Given the description of an element on the screen output the (x, y) to click on. 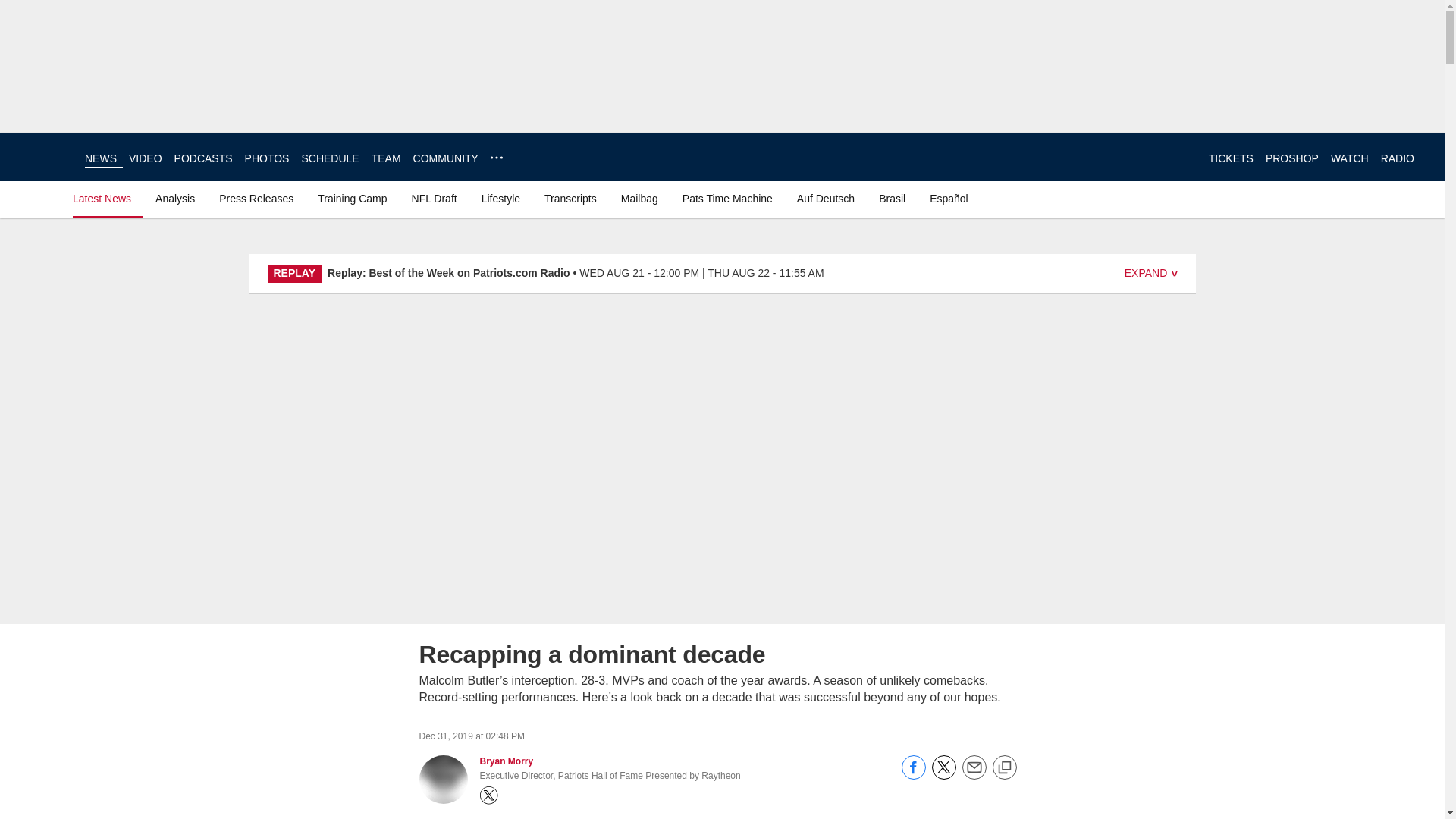
VIDEO (145, 158)
NEWS (100, 158)
TEAM (386, 158)
TICKETS (1230, 158)
Analysis (174, 198)
NFL Draft (434, 198)
Latest News (104, 198)
SCHEDULE (329, 158)
PHOTOS (266, 158)
TICKETS (1230, 158)
